Given the description of an element on the screen output the (x, y) to click on. 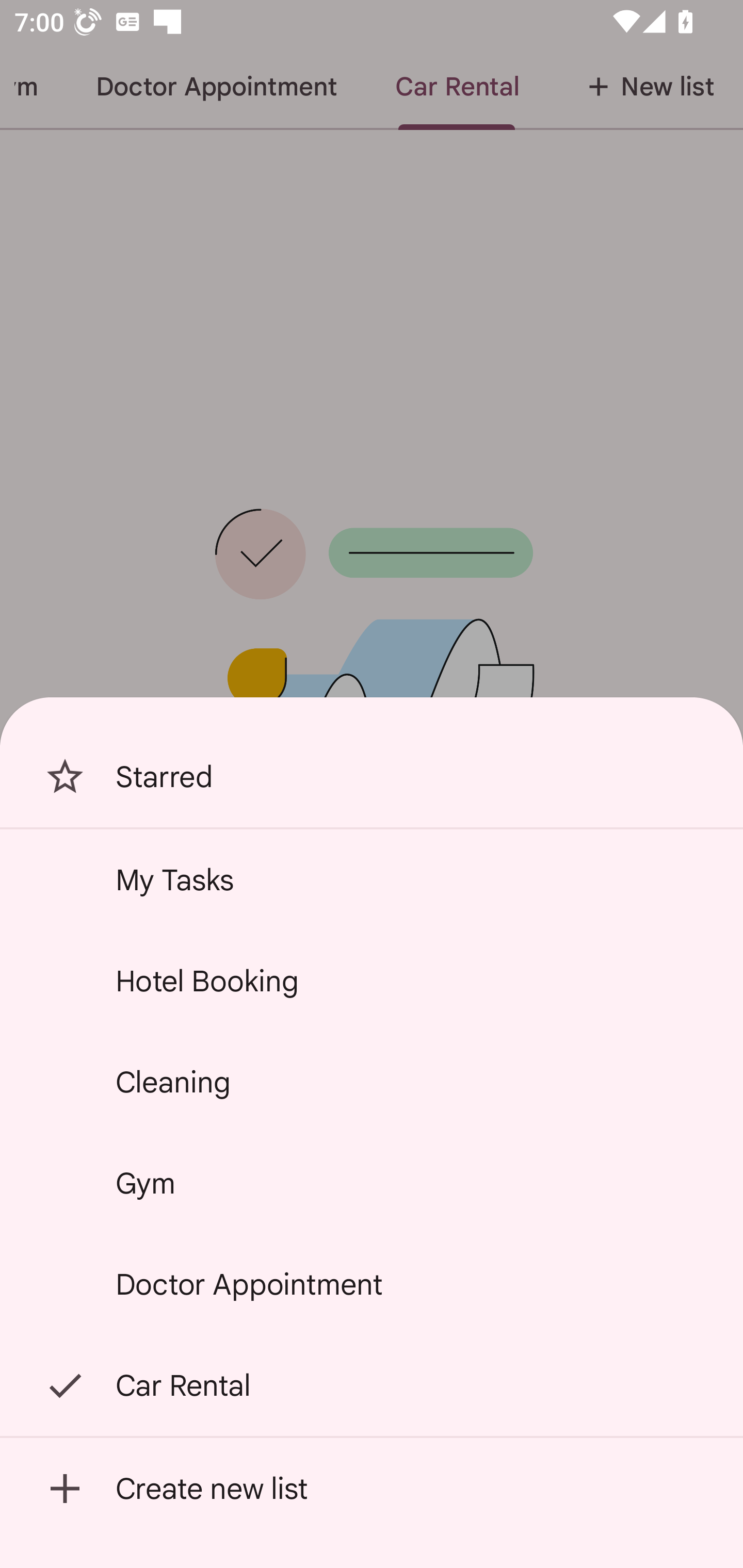
Starred (371, 776)
My Tasks (371, 879)
Hotel Booking (371, 980)
Cleaning (371, 1081)
Gym (371, 1183)
Doctor Appointment (371, 1284)
Car Rental (371, 1385)
Create new list (371, 1488)
